Given the description of an element on the screen output the (x, y) to click on. 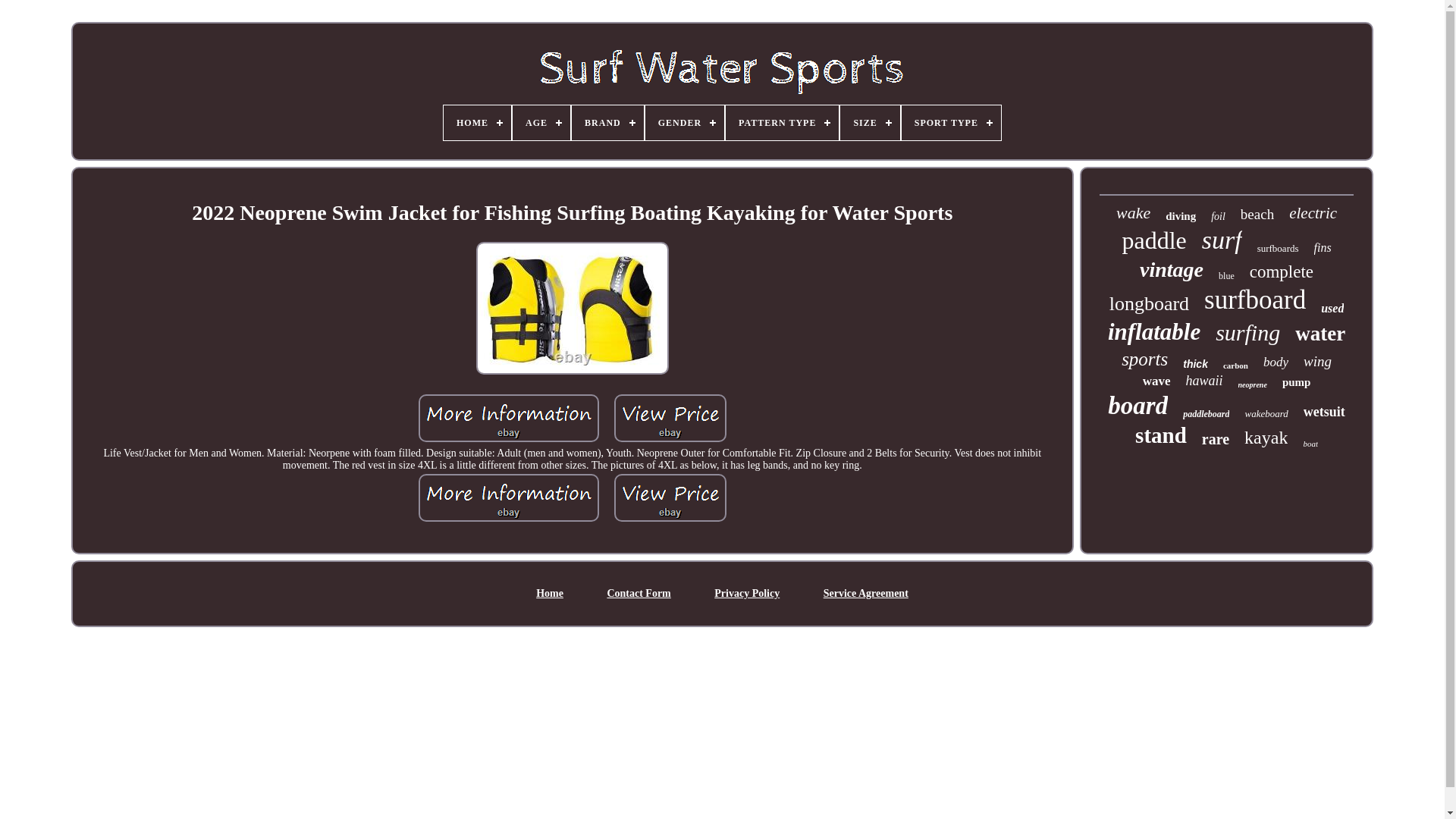
HOME (477, 122)
AGE (541, 122)
GENDER (684, 122)
BRAND (607, 122)
